Given the description of an element on the screen output the (x, y) to click on. 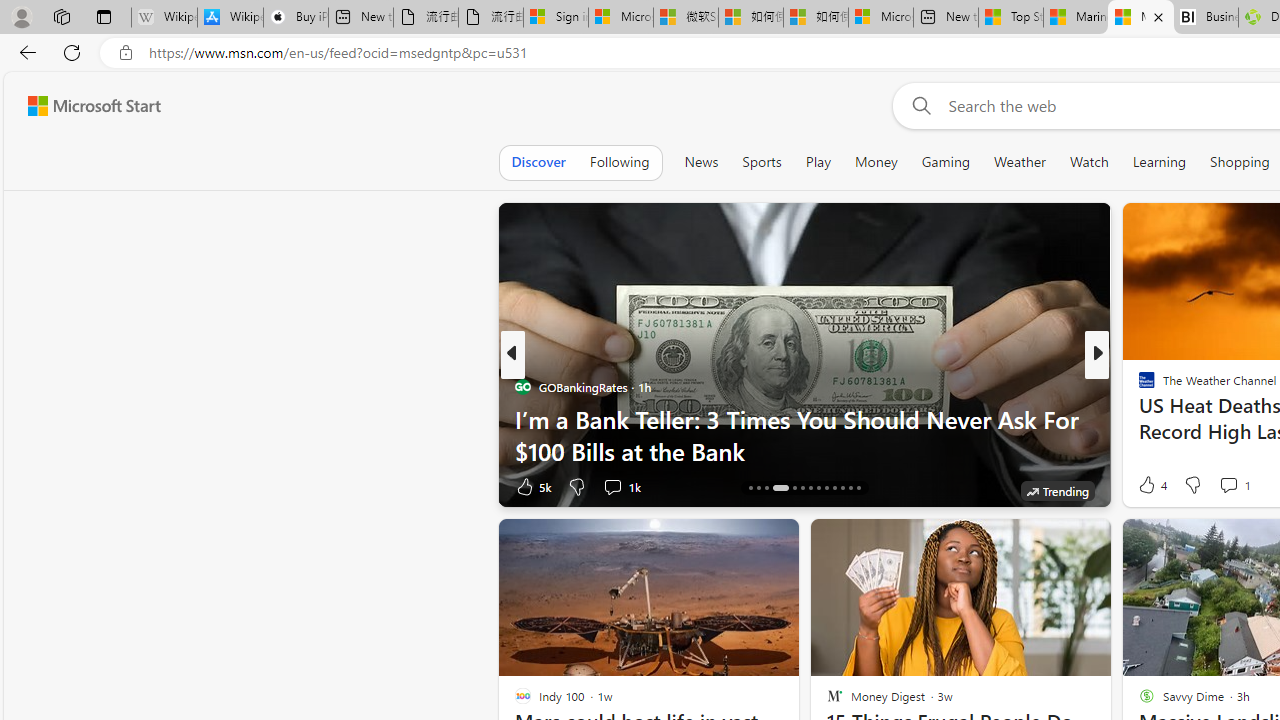
Marine life - MSN (1076, 17)
View comments 11 Comment (1244, 486)
View comments 2 Comment (1234, 486)
Microsoft Services Agreement (620, 17)
The Register (1138, 418)
PC World (1138, 386)
Watch (1089, 161)
Sports (761, 161)
This story is trending (1057, 490)
115 Like (1151, 486)
ChaChingQueen (1138, 386)
View comments 1k Comment (612, 485)
View comments 339 Comment (1247, 486)
